Given the description of an element on the screen output the (x, y) to click on. 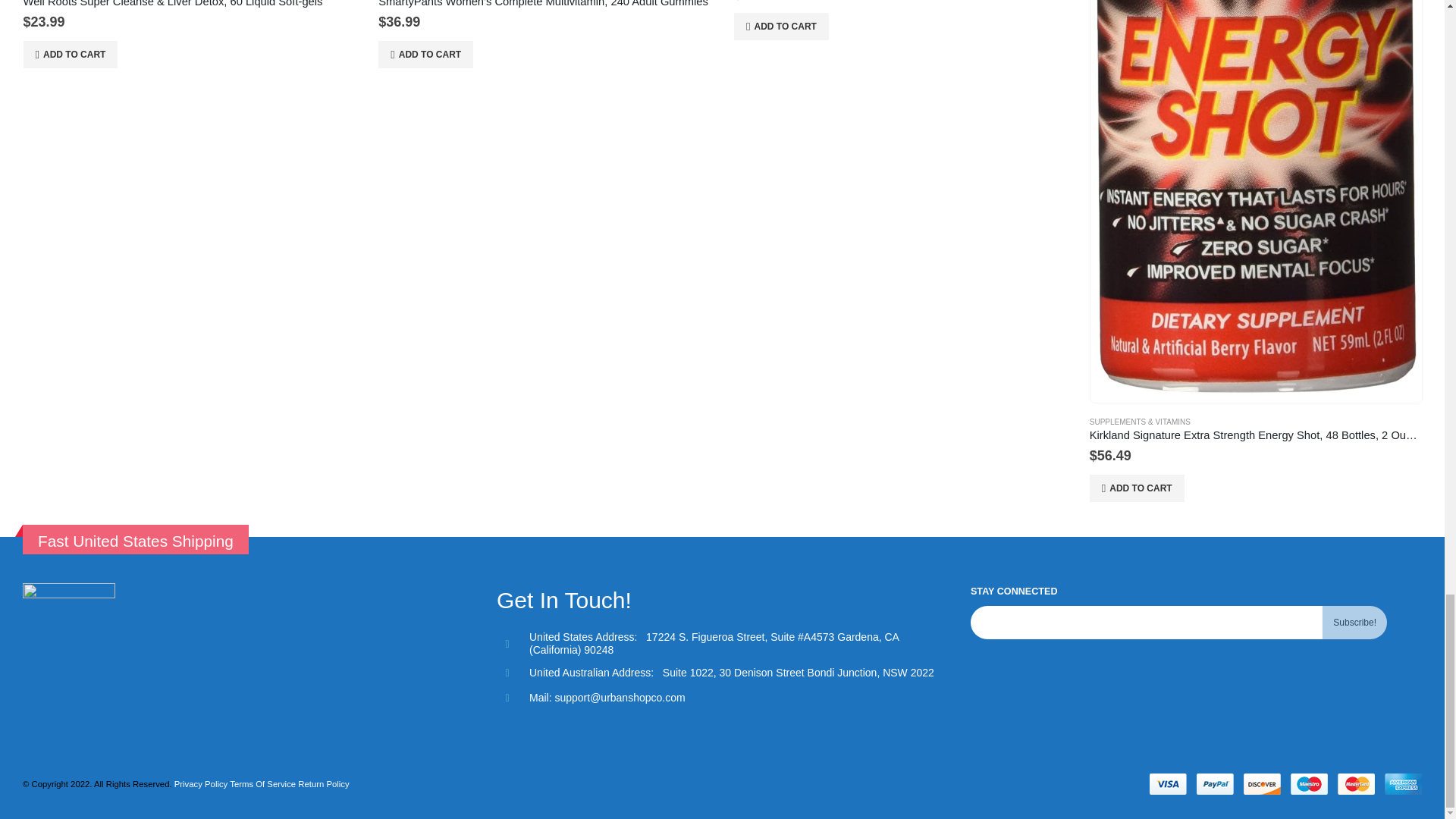
Subscribe! (1354, 622)
